Given the description of an element on the screen output the (x, y) to click on. 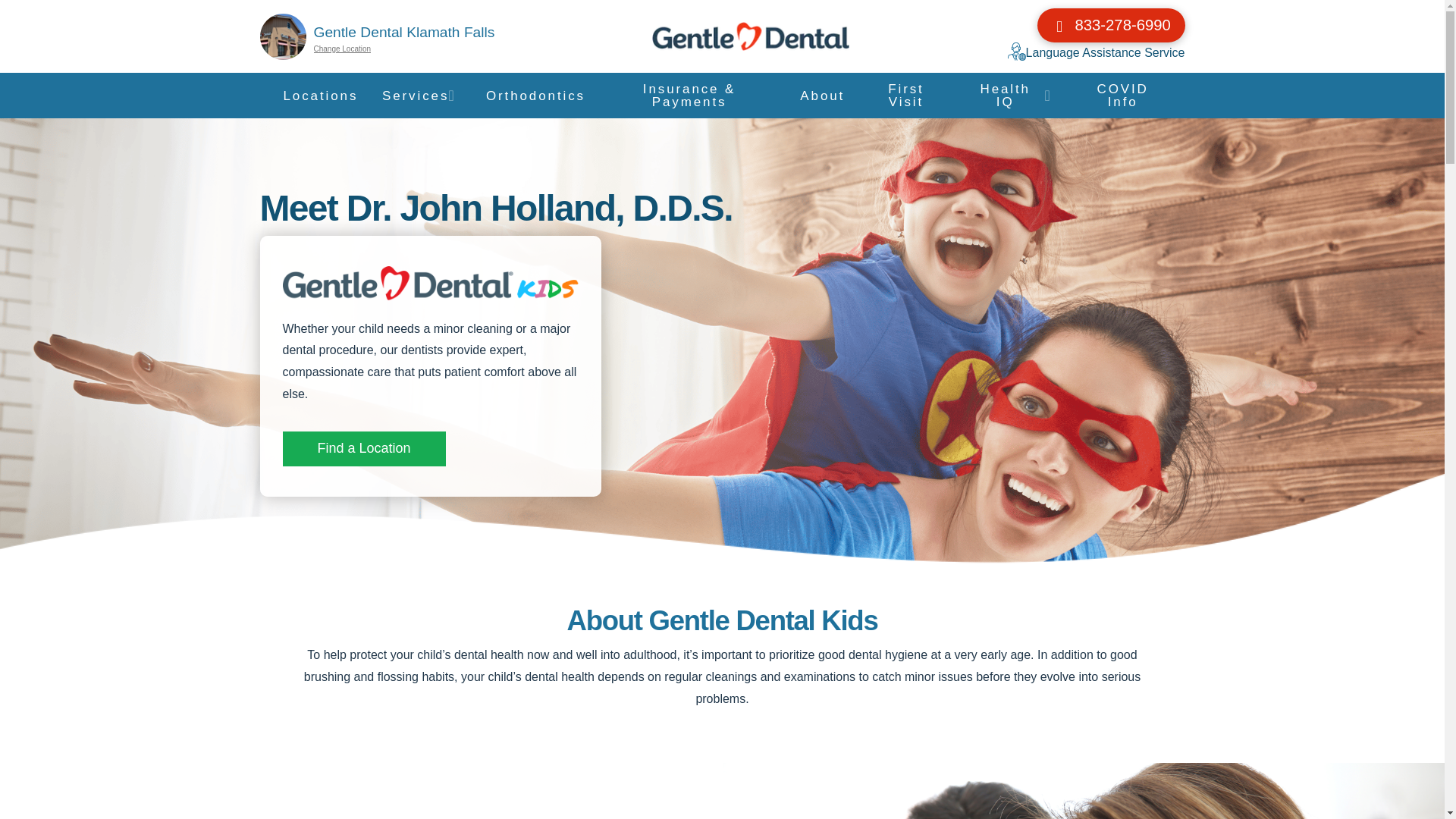
About (819, 94)
Change Location (342, 49)
Health IQ (1010, 94)
COVID Info (1121, 94)
Language Assistance Service (1096, 53)
Orthodontics (531, 94)
Gentle Dental Klamath Falls (404, 31)
First Visit (904, 94)
Services (418, 94)
Locations (315, 94)
Find a Location (363, 448)
833-278-6990 (1110, 25)
